Given the description of an element on the screen output the (x, y) to click on. 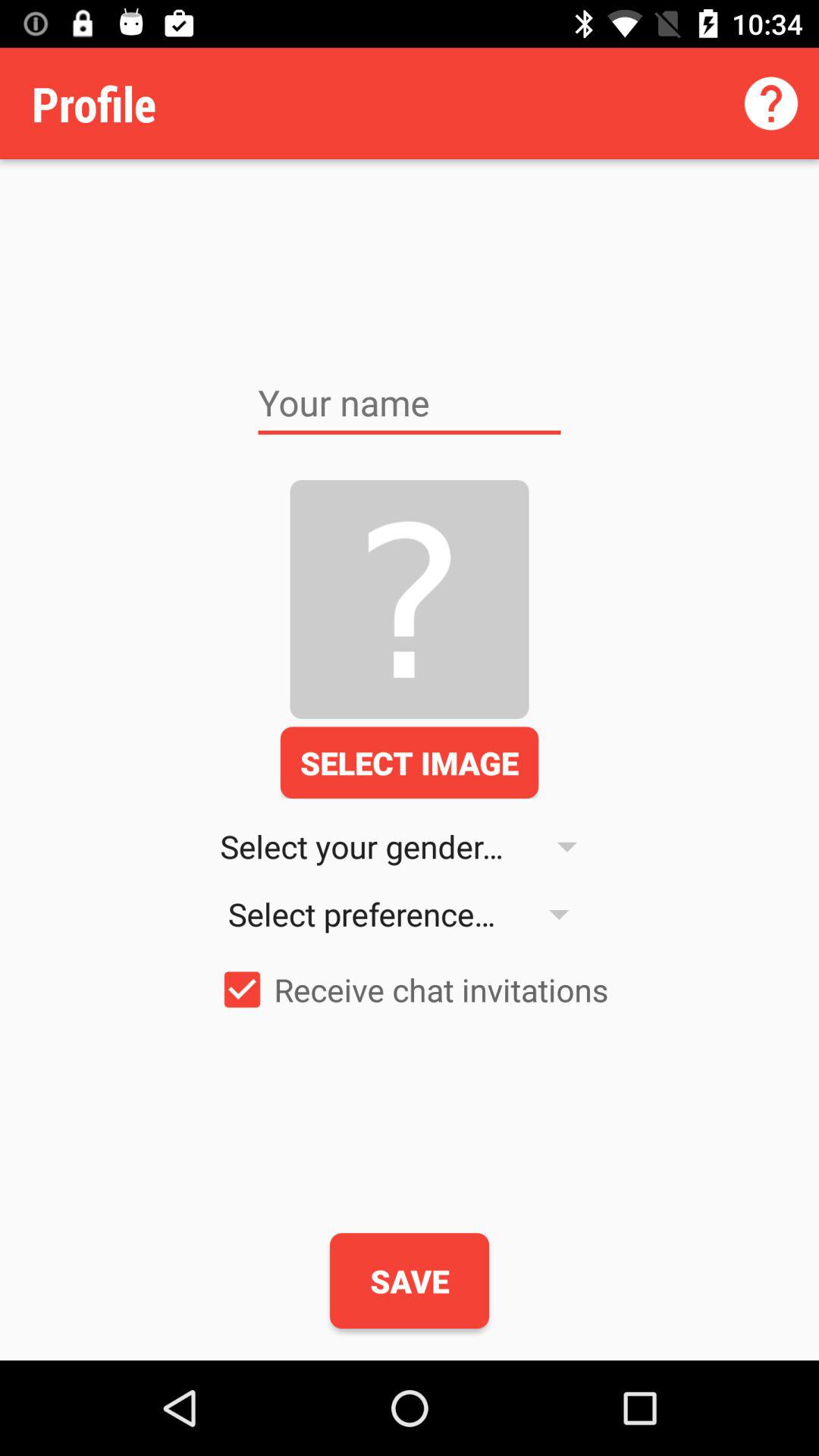
input name (409, 403)
